Given the description of an element on the screen output the (x, y) to click on. 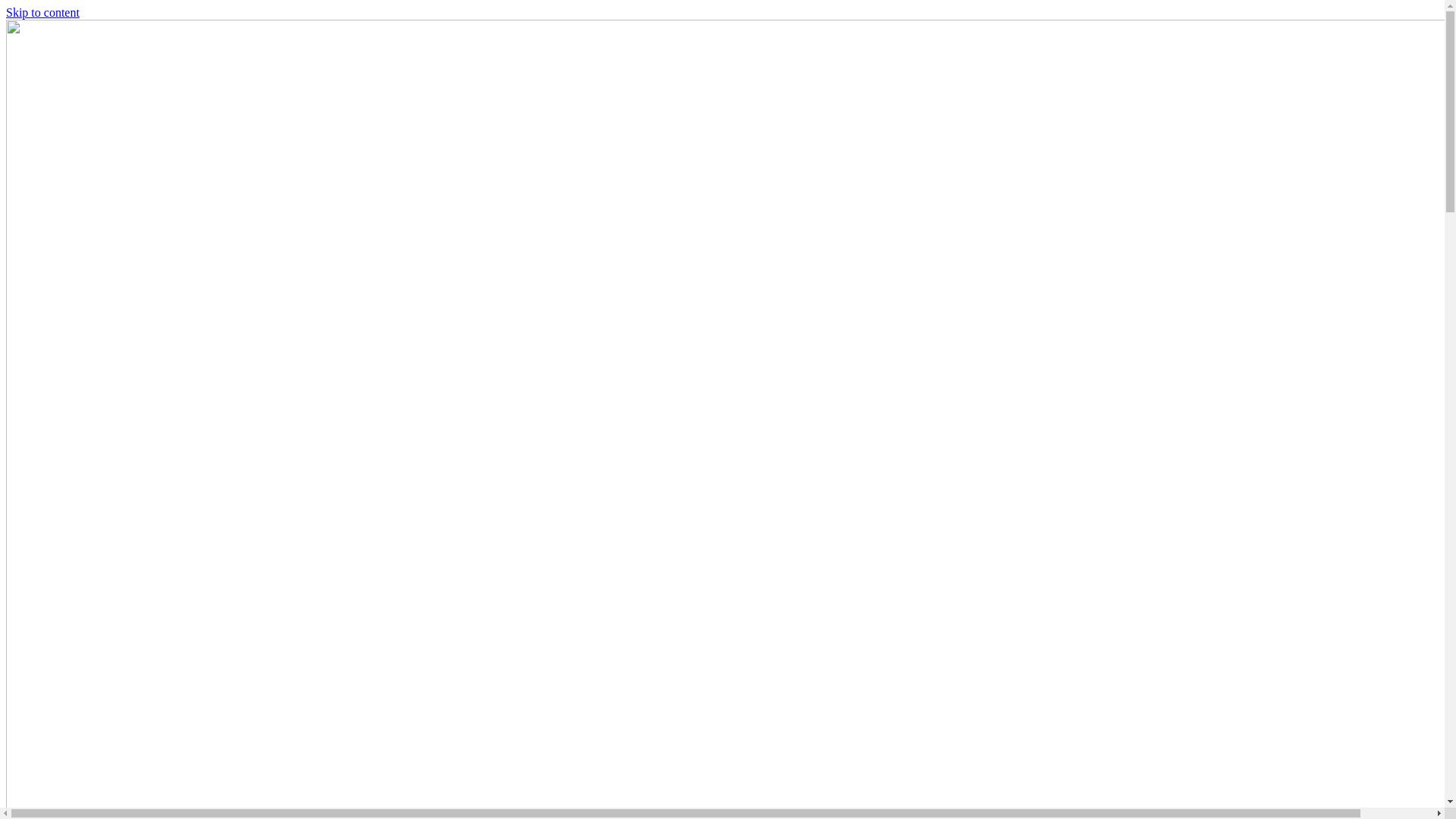
Skip to content Element type: text (42, 12)
